Given the description of an element on the screen output the (x, y) to click on. 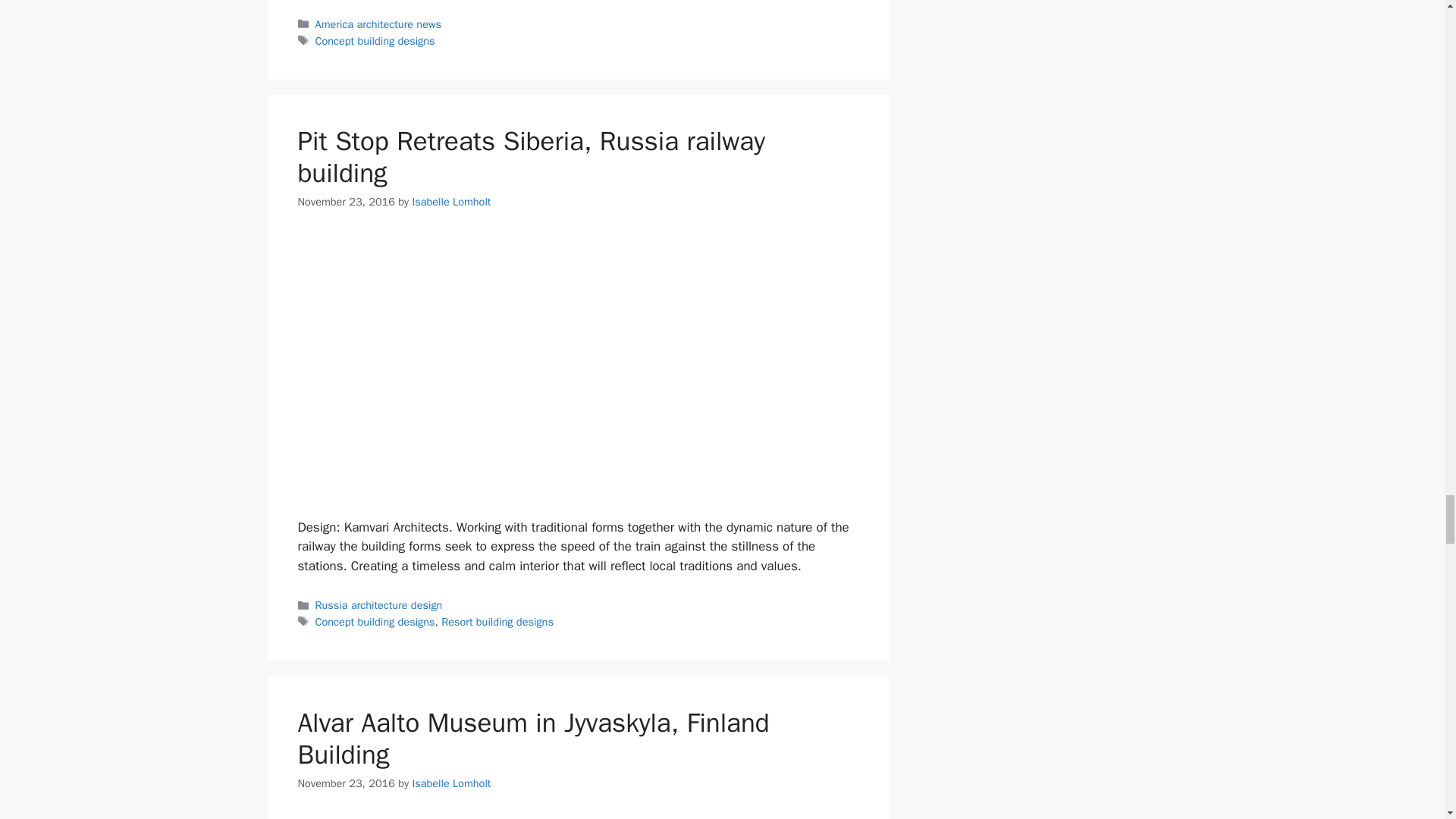
View all posts by Isabelle Lomholt (451, 201)
View all posts by Isabelle Lomholt (451, 783)
